Given the description of an element on the screen output the (x, y) to click on. 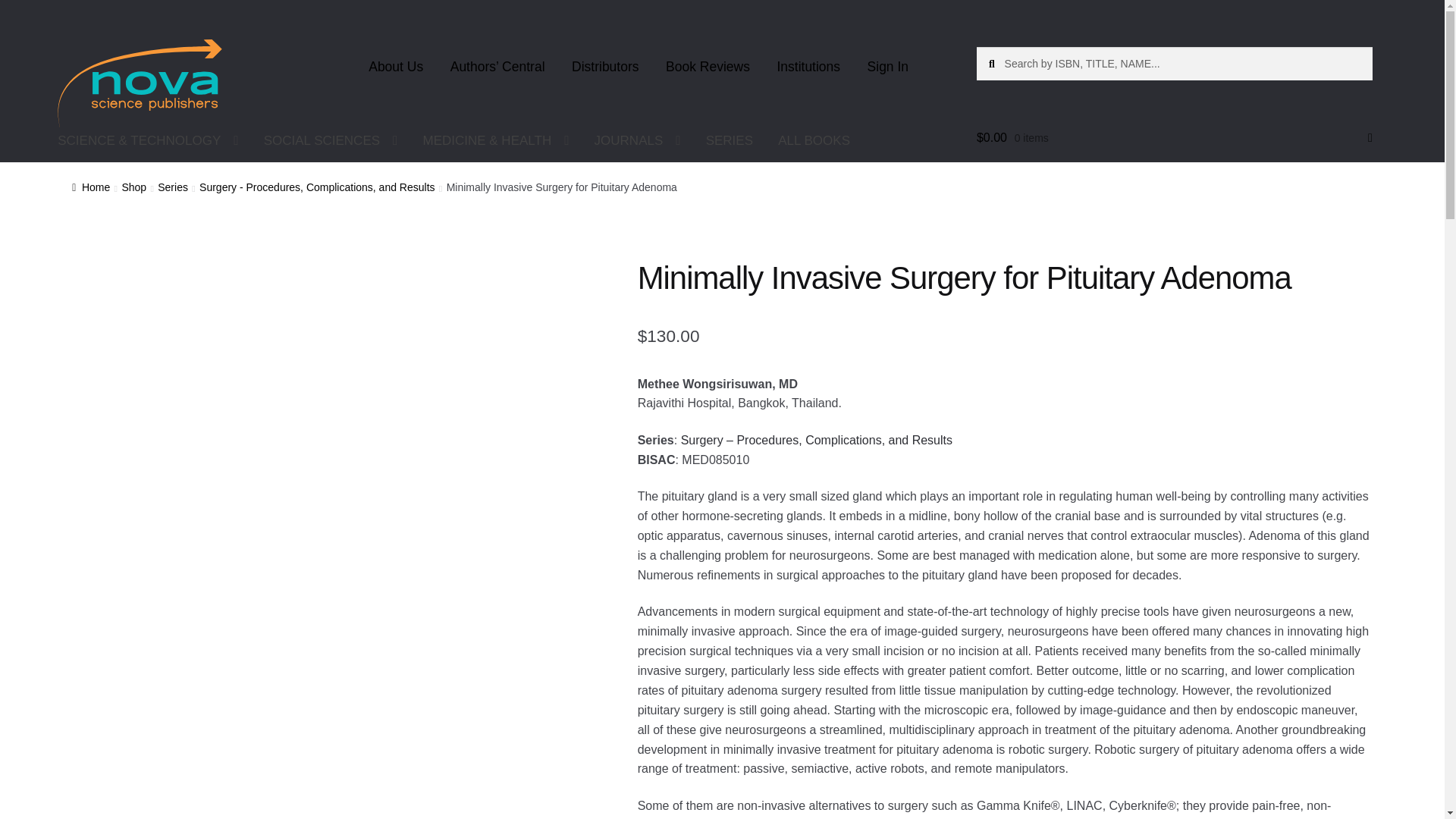
Book Reviews (707, 66)
SOCIAL SCIENCES (330, 140)
About Us (395, 66)
Sign In (888, 66)
Distributors (605, 66)
Institutions (808, 66)
View your shopping cart (1174, 137)
